Given the description of an element on the screen output the (x, y) to click on. 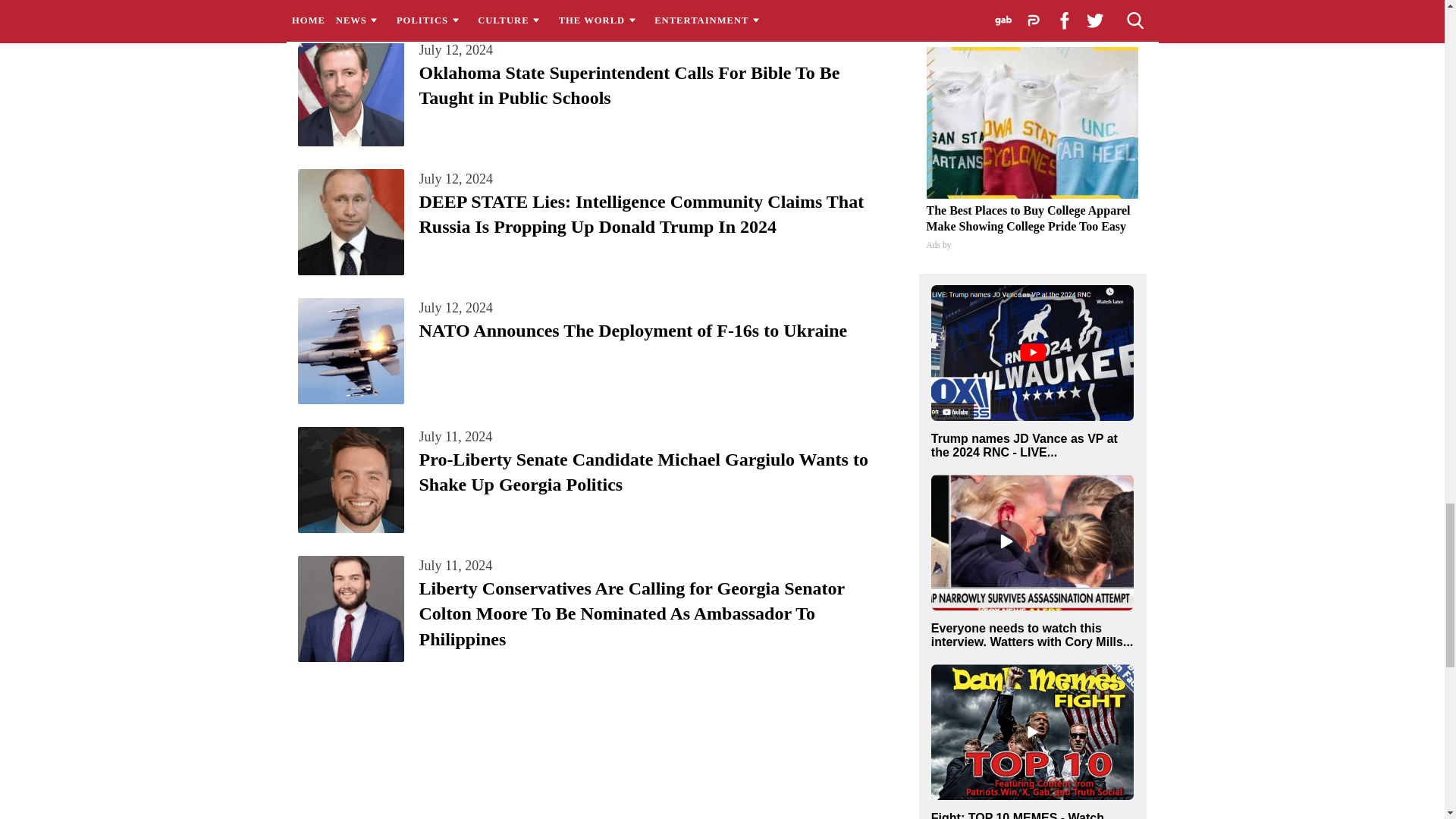
NATO Announces The Deployment of F-16s to Ukraine (633, 330)
